Given the description of an element on the screen output the (x, y) to click on. 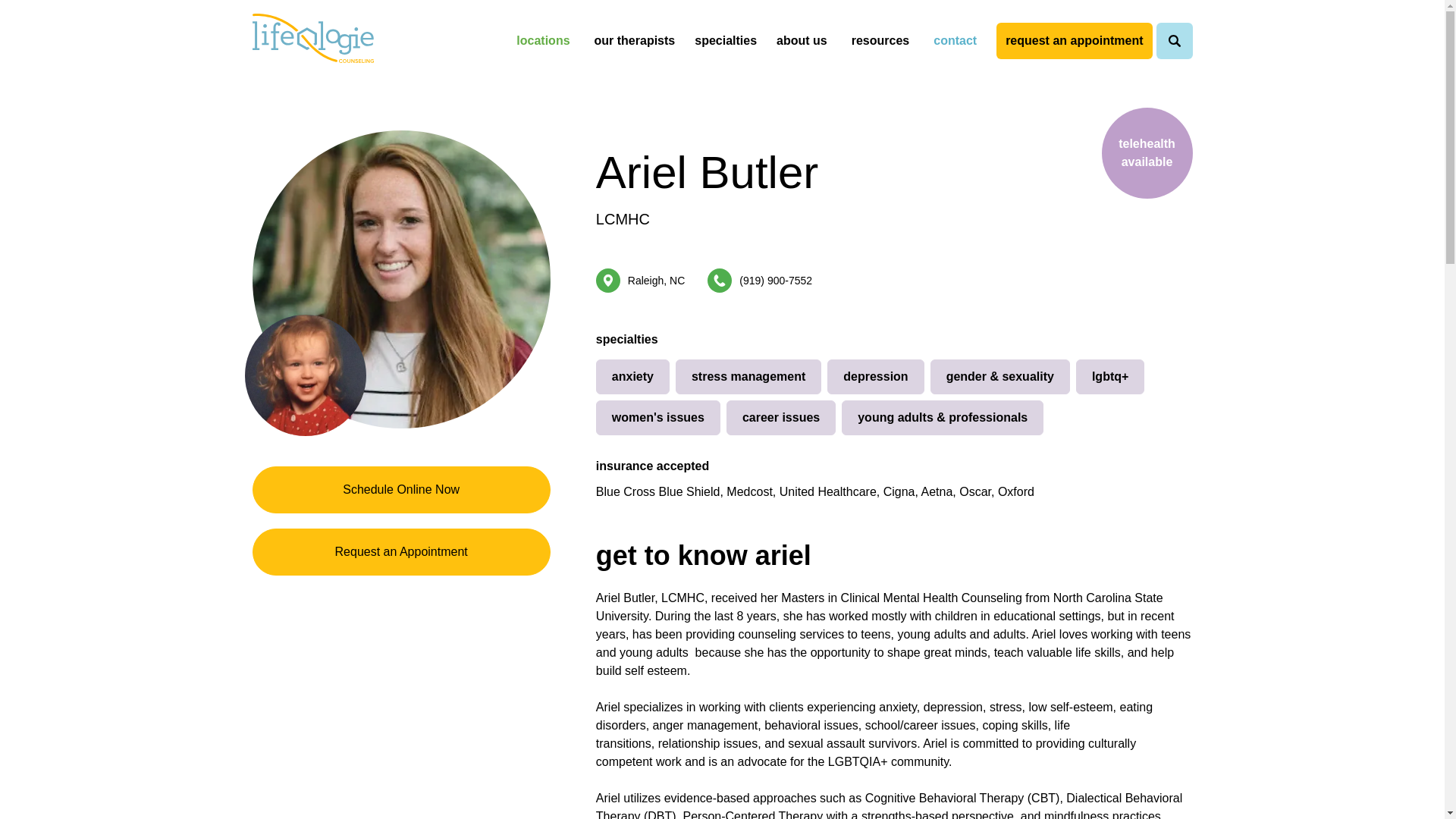
Schedule Online Now (400, 489)
logo (311, 38)
stress management (748, 376)
anxiety (632, 376)
career issues (780, 417)
specialties (727, 40)
our therapists (634, 40)
request an appointment (1073, 40)
about us (804, 40)
women's issues (657, 417)
locations (541, 40)
contact (954, 40)
Request an Appointment (400, 551)
depression (875, 376)
resources (880, 40)
